Given the description of an element on the screen output the (x, y) to click on. 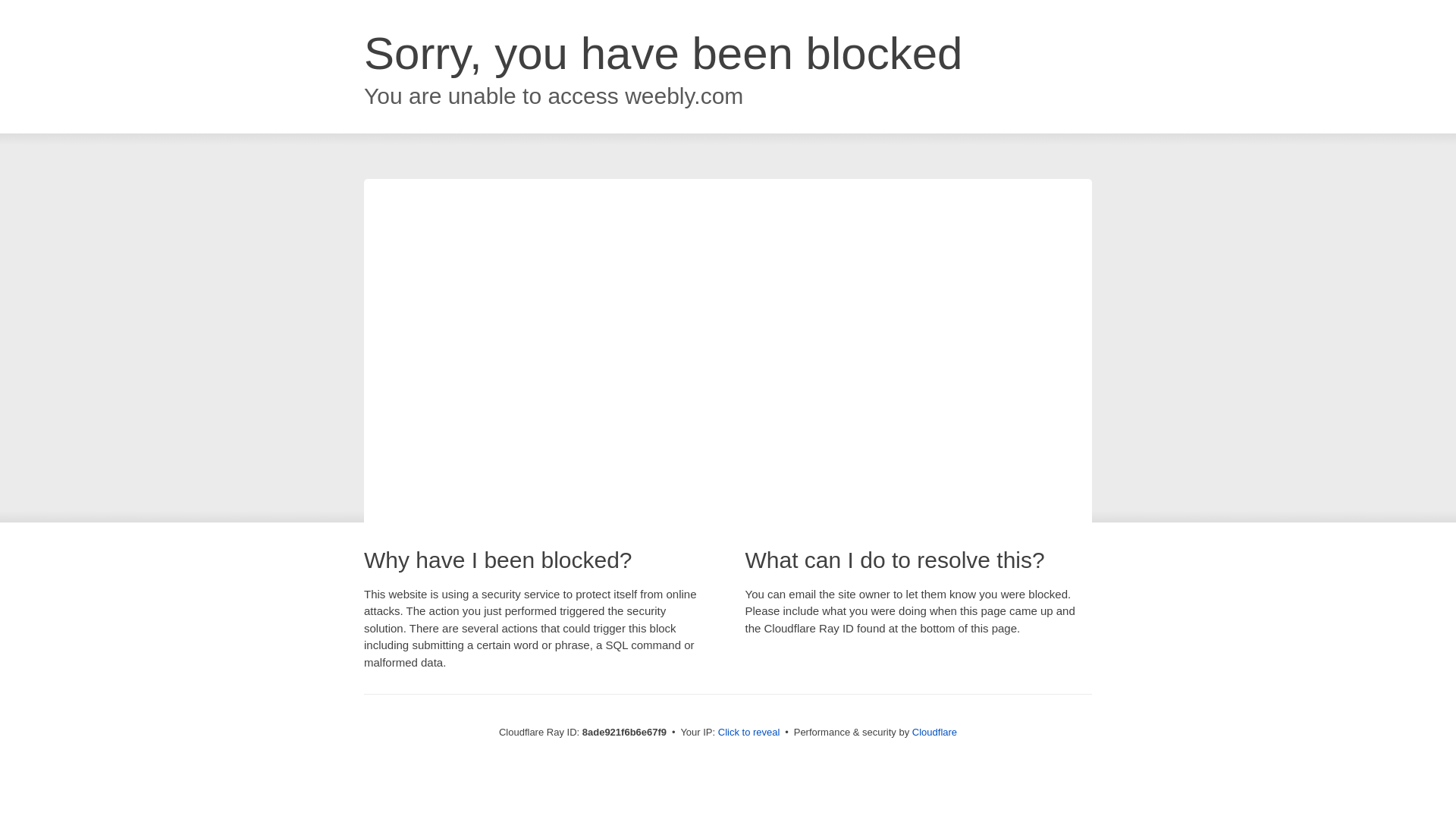
Cloudflare (934, 731)
Click to reveal (748, 732)
